Given the description of an element on the screen output the (x, y) to click on. 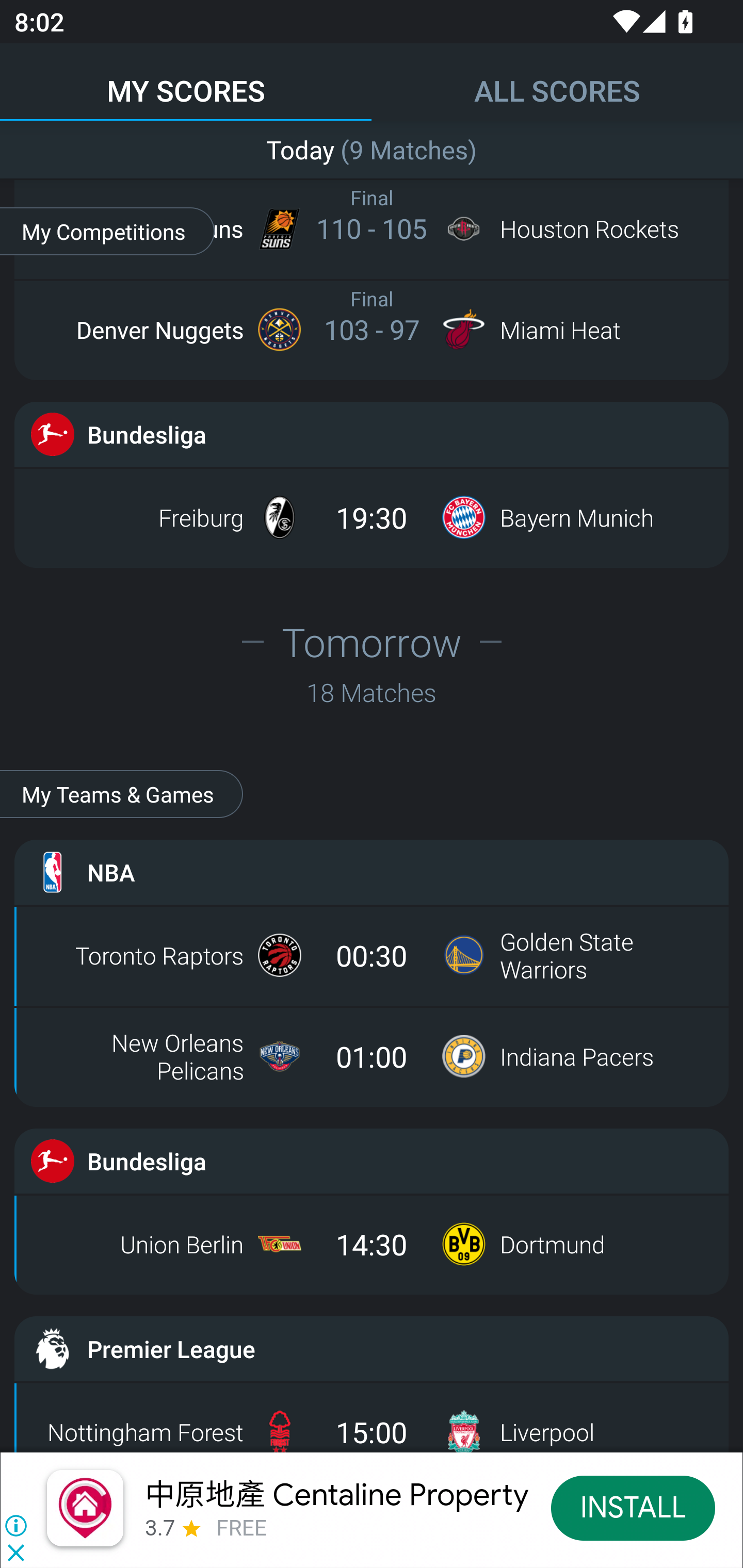
MY SCORES (185, 81)
ALL SCORES (557, 81)
San Antonio Spurs 132 - 118 Oklahoma City Thunder (371, 148)
Phoenix Suns Final 110 - 105 Houston Rockets (371, 228)
Denver Nuggets Final 103 - 97 Miami Heat (371, 329)
Bundesliga (371, 434)
Freiburg 19:30 Bayern Munich (371, 517)
NBA (371, 872)
Toronto Raptors 00:30 Golden State Warriors (371, 954)
New Orleans Pelicans 01:00 Indiana Pacers (371, 1056)
Bundesliga (371, 1160)
Union Berlin 14:30 Dortmund (371, 1244)
Premier League (371, 1348)
Nottingham Forest 15:00 Liverpool (371, 1421)
中原地產 Centaline Property (335, 1493)
INSTALL (632, 1507)
